Given the description of an element on the screen output the (x, y) to click on. 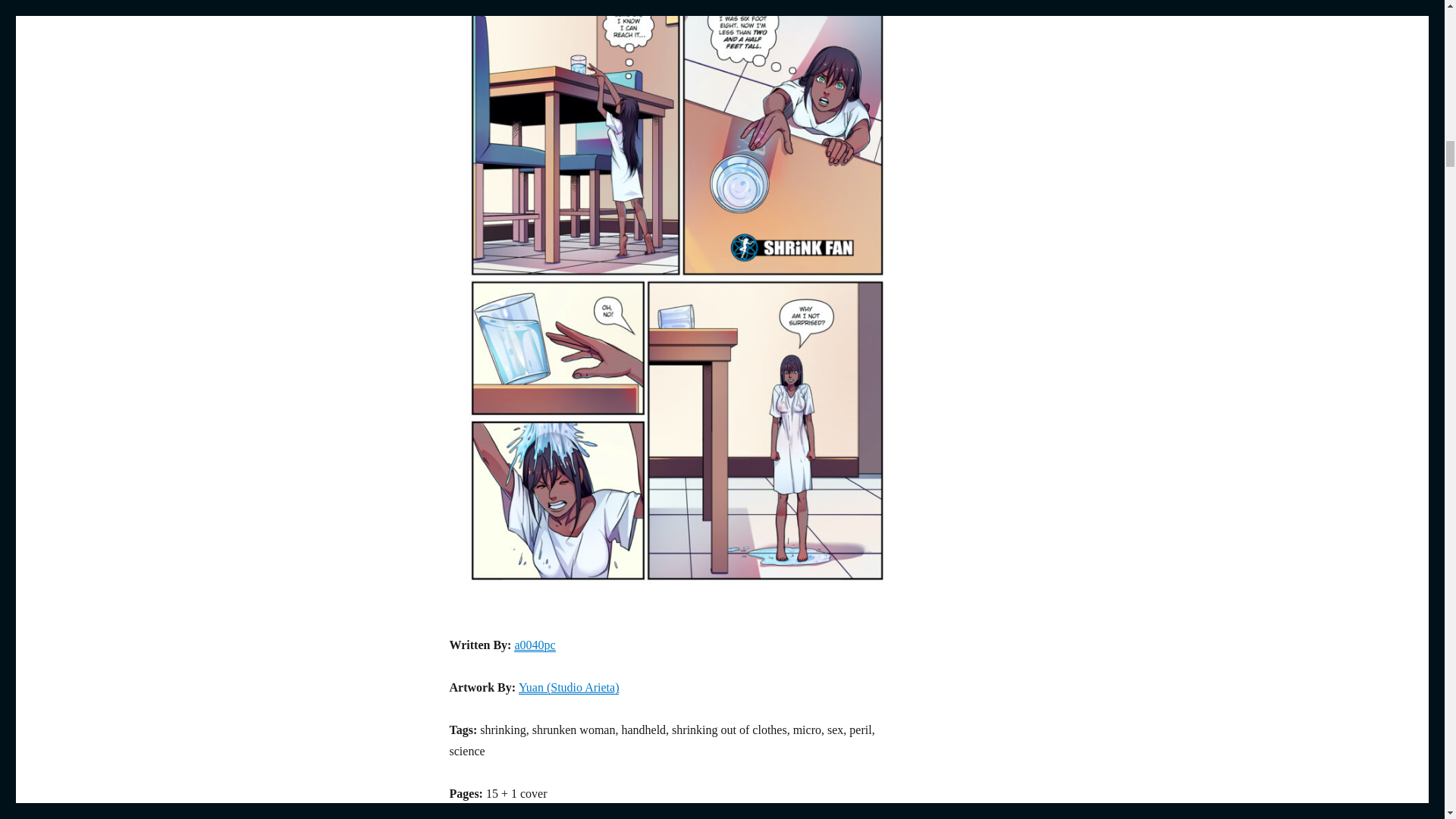
a0040pc (533, 644)
